Given the description of an element on the screen output the (x, y) to click on. 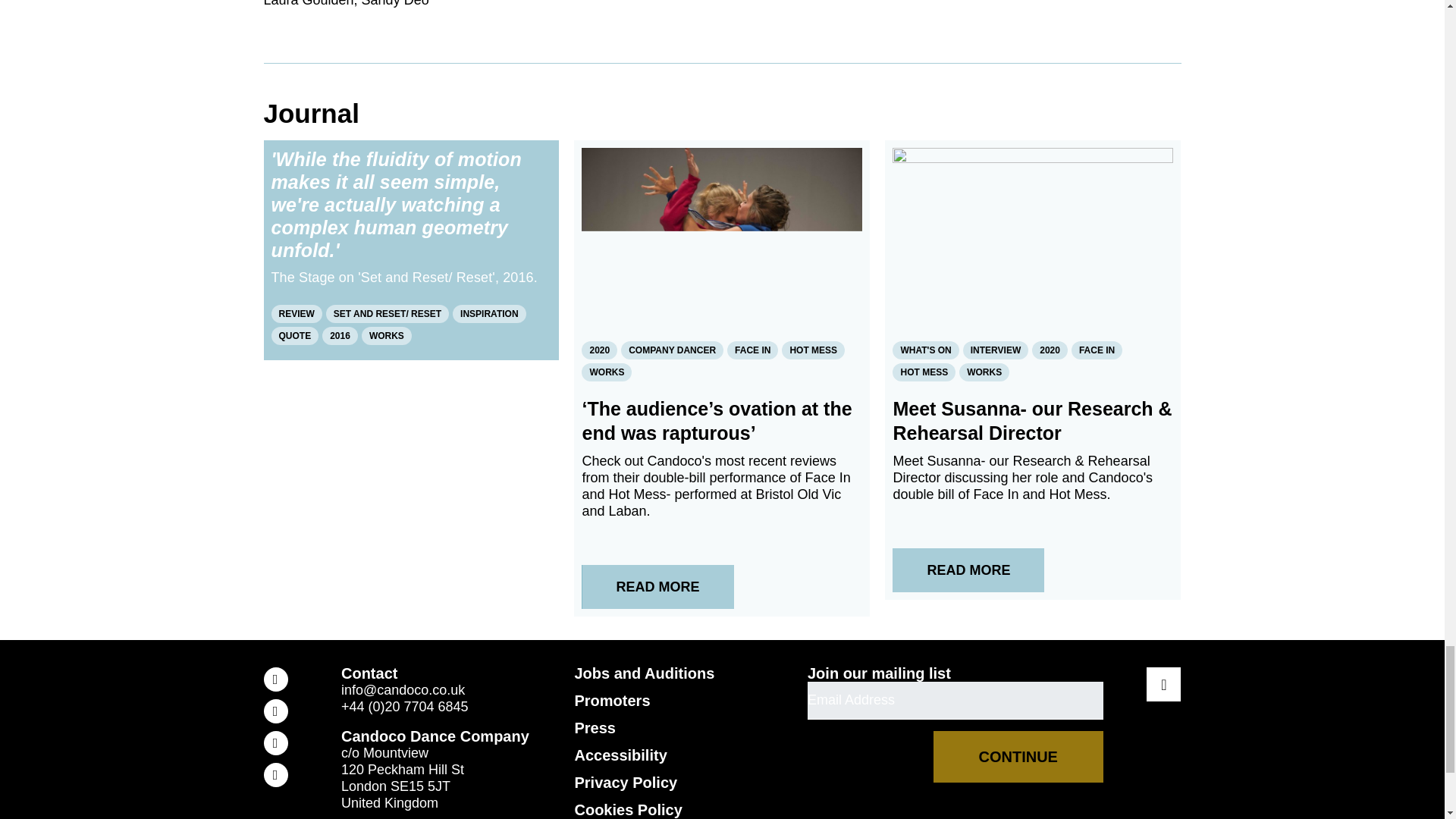
REVIEW (295, 313)
2020 (598, 350)
2016 (339, 334)
QUOTE (294, 334)
INSPIRATION (488, 313)
WORKS (386, 334)
COMPANY DANCER (672, 350)
